Given the description of an element on the screen output the (x, y) to click on. 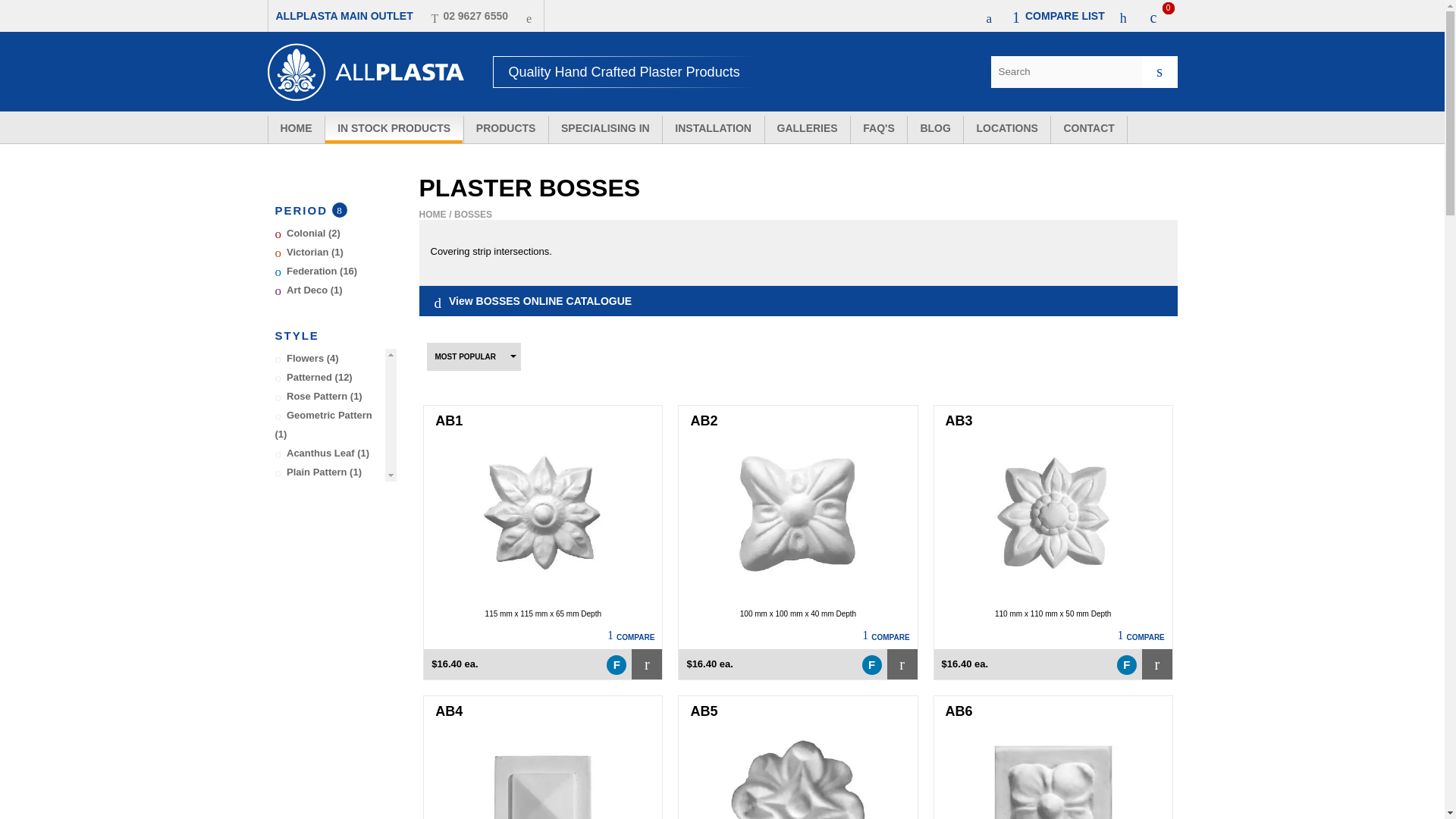
HOME (295, 129)
Cart Contents (1163, 15)
Products (506, 129)
PRODUCTS (506, 129)
0 (1065, 15)
IN STOCK PRODUCTS (393, 129)
0 (1163, 15)
Home (295, 129)
My Compare List (1065, 15)
ALLPLASTA (365, 71)
In Stock Products (393, 129)
s (1159, 71)
s (1159, 71)
s (1159, 71)
02 9627 6550 (469, 15)
